Given the description of an element on the screen output the (x, y) to click on. 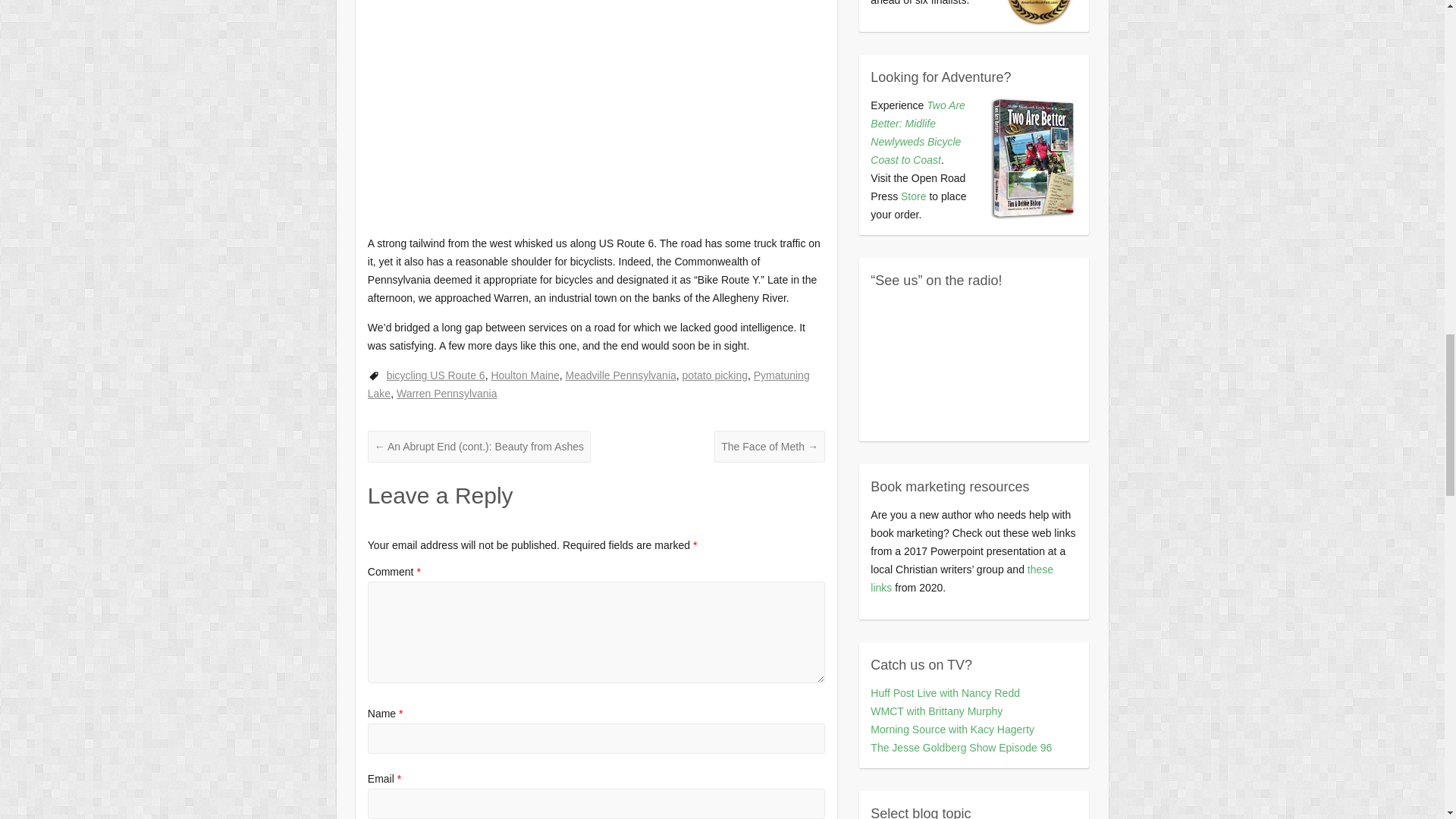
Warren Pennsylvania (446, 393)
potato picking (715, 375)
Houlton Maine (524, 375)
Married for the First Time at 52 (945, 693)
Cross Country Honeymoon (936, 711)
bicycling US Route 6 (435, 375)
Pymatuning Lake (588, 384)
Meadville Pennsylvania (619, 375)
Morning Source with Kacy Hagerty (951, 729)
The Jesse Goldberg Show Episode 96 (960, 747)
